Given the description of an element on the screen output the (x, y) to click on. 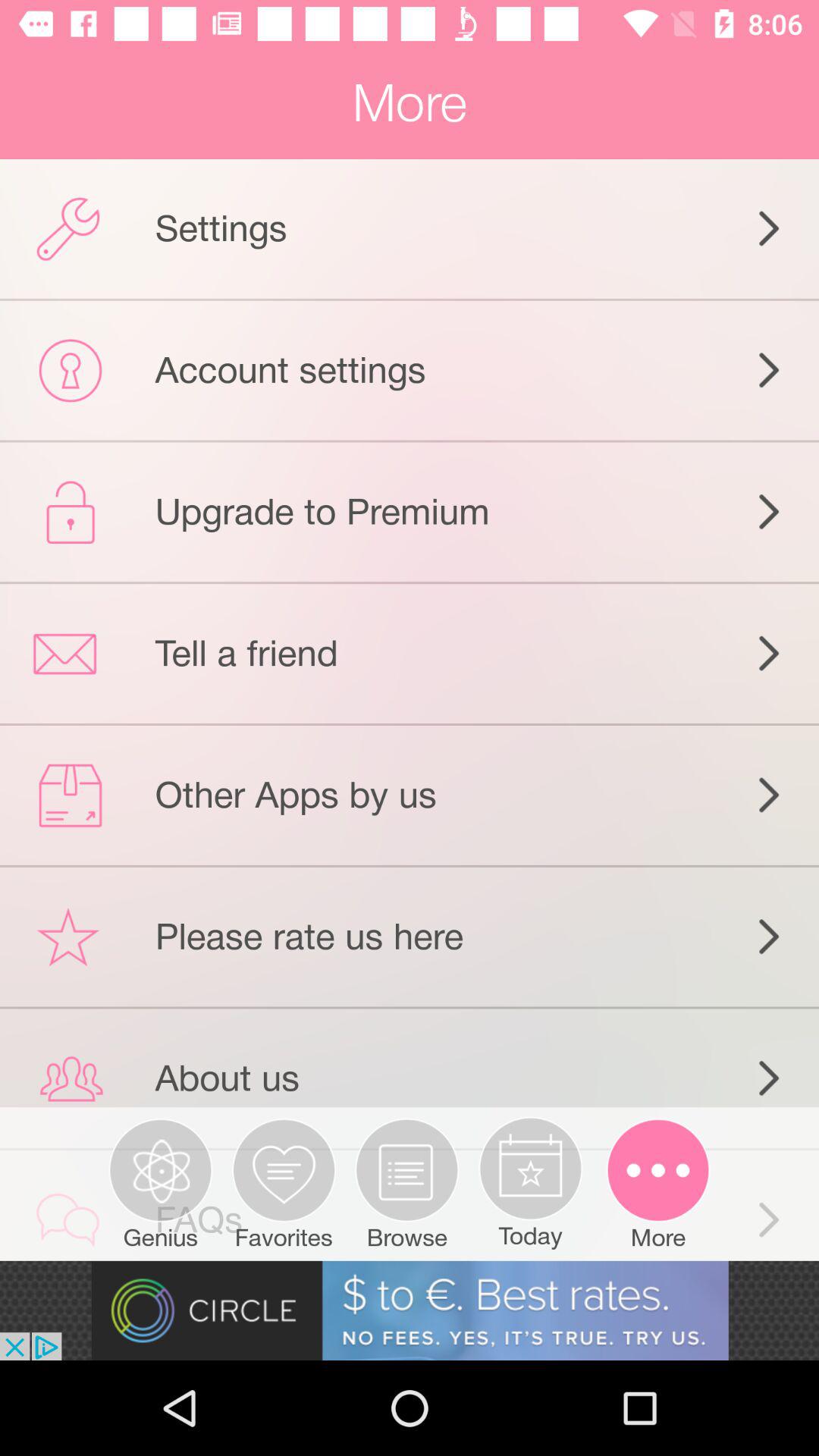
know about the advertisement (409, 1310)
